Given the description of an element on the screen output the (x, y) to click on. 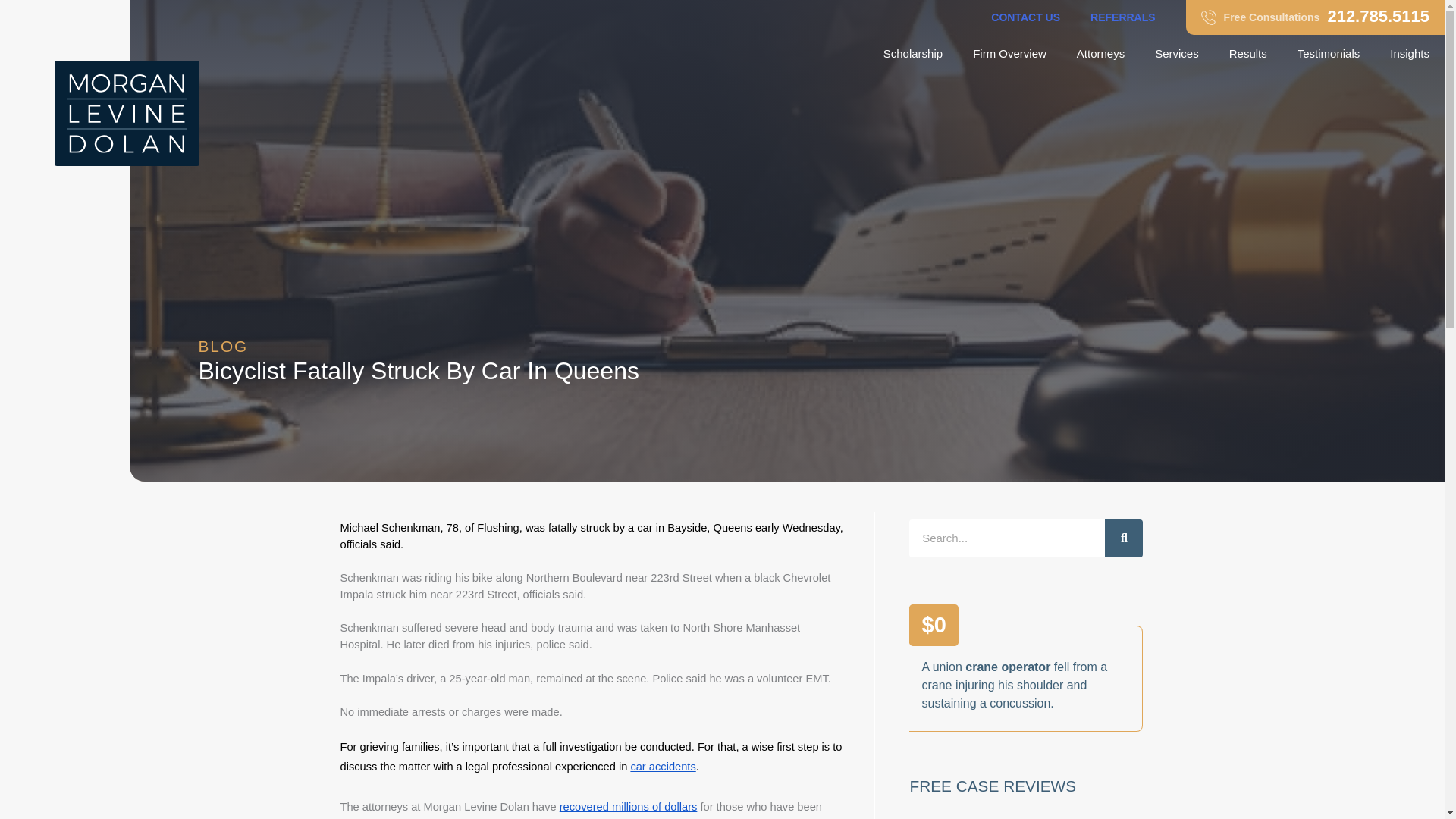
Firm Overview (1009, 53)
Services (1315, 17)
Attorneys (1177, 53)
CONTACT US (1100, 53)
Scholarship (1025, 17)
REFERRALS (912, 53)
